Given the description of an element on the screen output the (x, y) to click on. 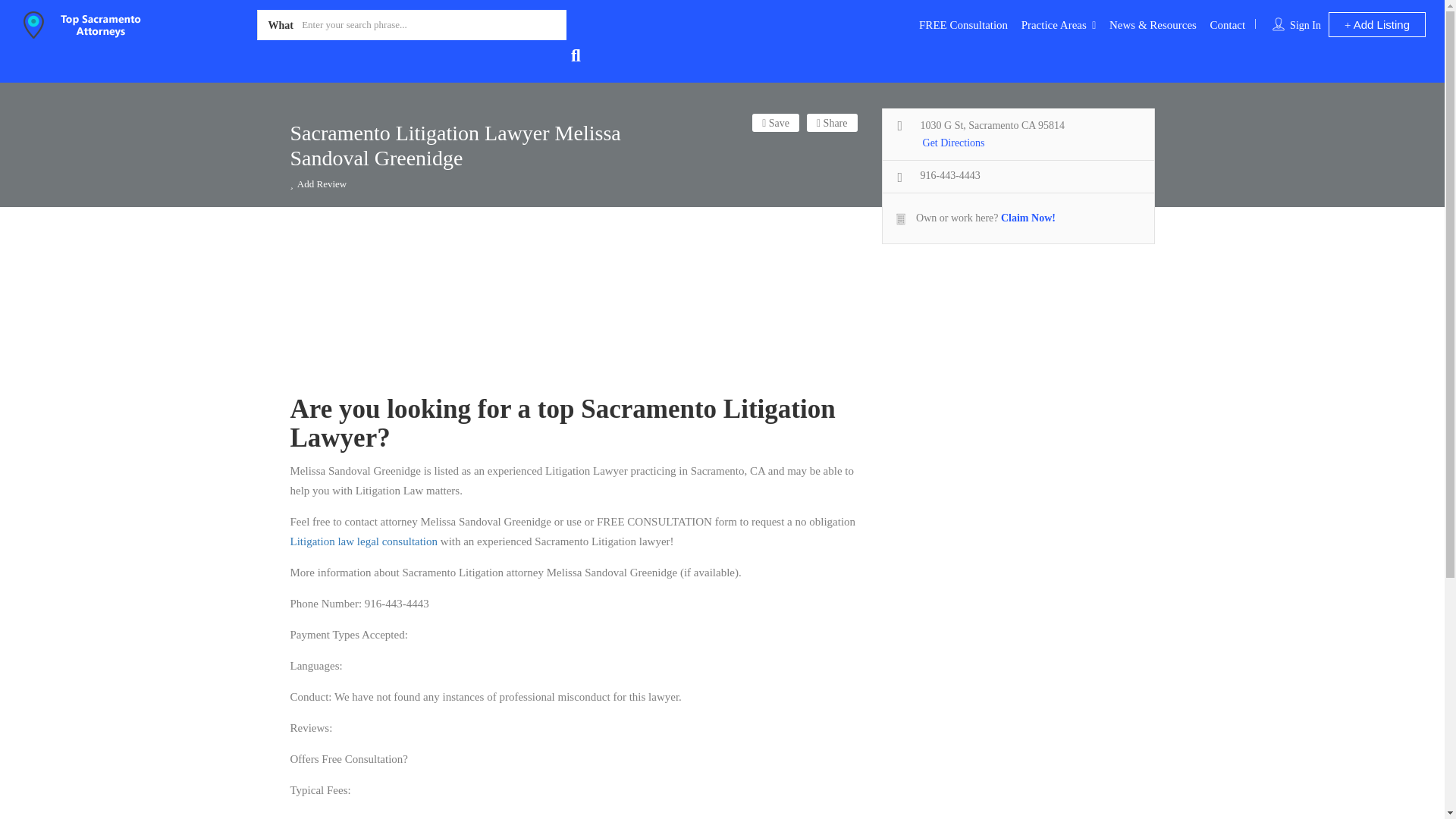
Advertisement (574, 308)
Add Listing (1376, 24)
Submit (413, 502)
Sign In (1305, 25)
FREE Consultation (962, 24)
Practice Areas (1054, 24)
Contact (1226, 24)
